Given the description of an element on the screen output the (x, y) to click on. 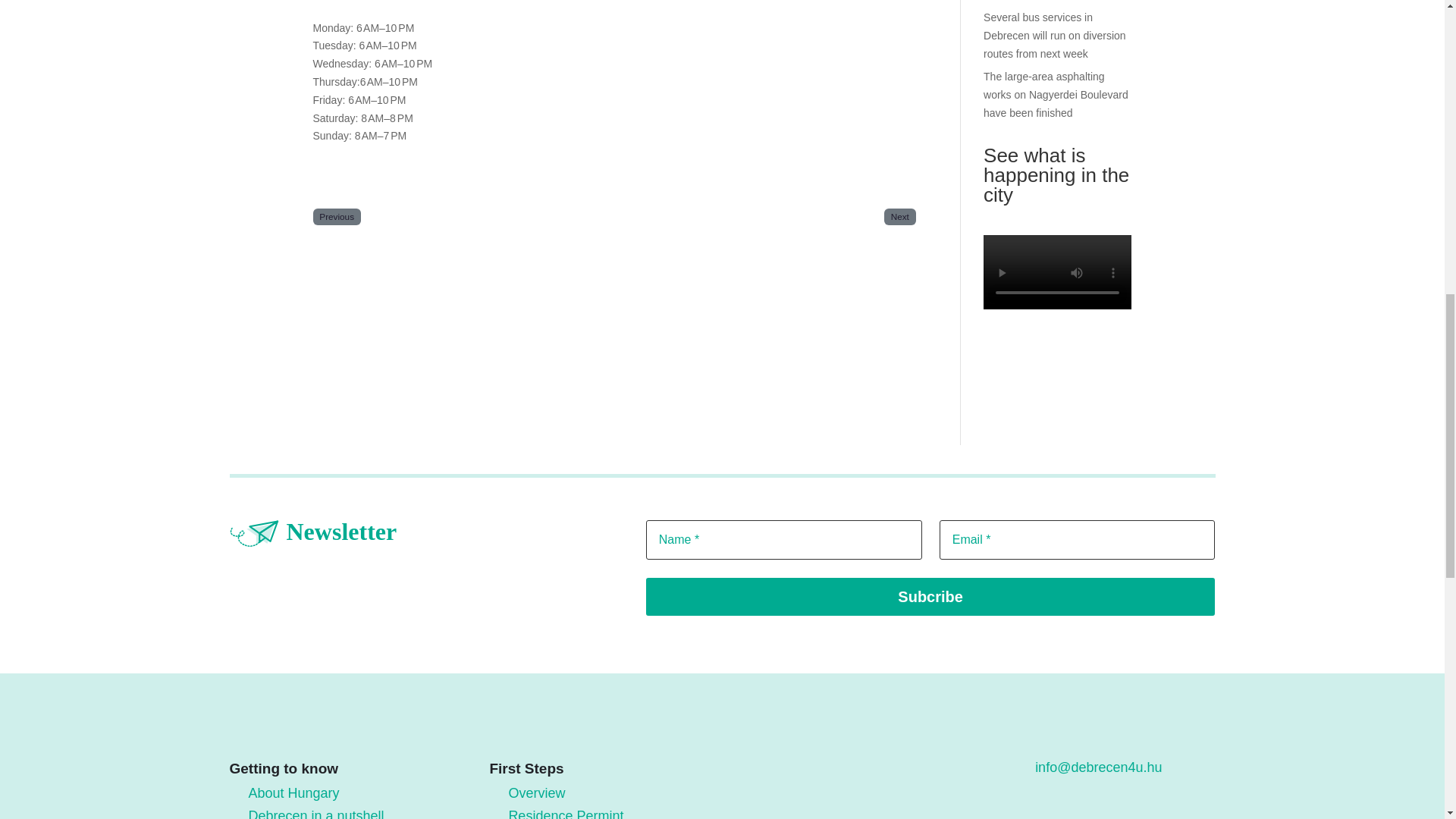
Follow on Facebook (777, 499)
News (424, 559)
Follow on Youtube (840, 499)
Living (424, 343)
Follow on Instagram (809, 499)
Education (424, 397)
Follow on LinkedIn (872, 499)
First Steps (424, 289)
